Given the description of an element on the screen output the (x, y) to click on. 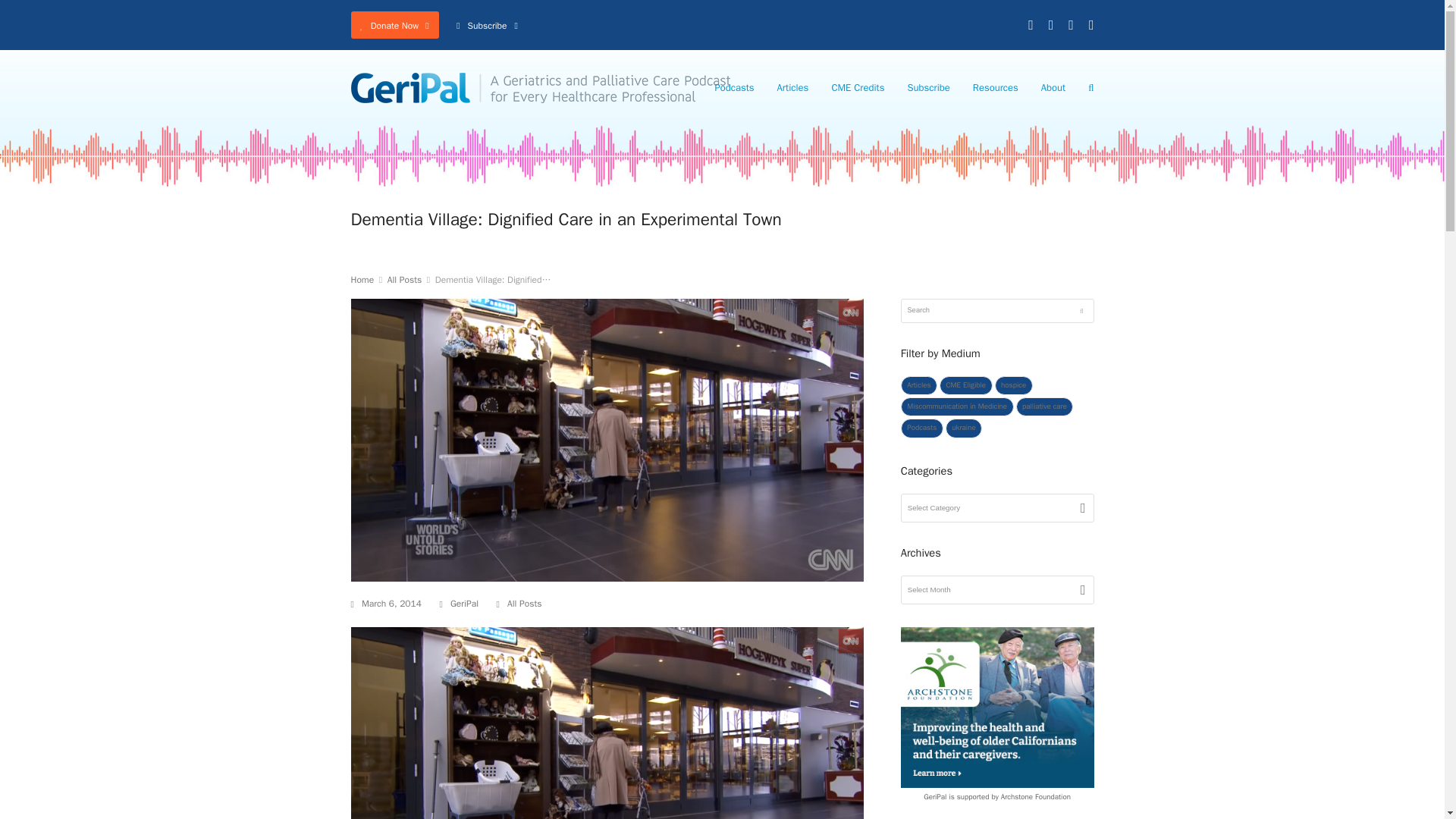
Articles (793, 87)
All Posts (404, 279)
All Posts (523, 603)
Posts by GeriPal (464, 603)
About (1053, 87)
Resources (994, 87)
GeriPal (464, 603)
Subscribe (927, 87)
Podcasts (734, 87)
CME Credits (857, 87)
